Given the description of an element on the screen output the (x, y) to click on. 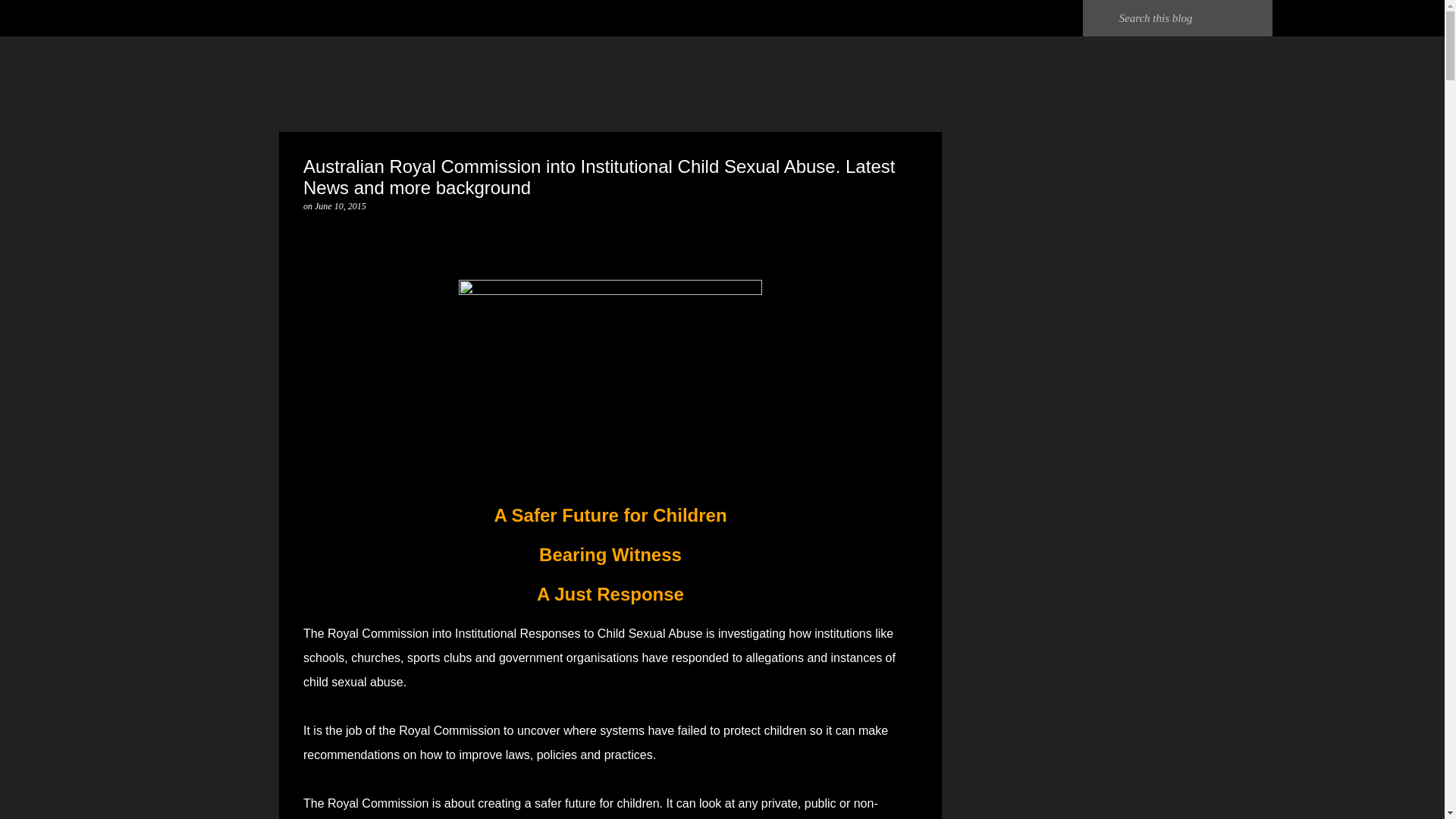
permanent link (340, 205)
June 10, 2015 (340, 205)
